Given the description of an element on the screen output the (x, y) to click on. 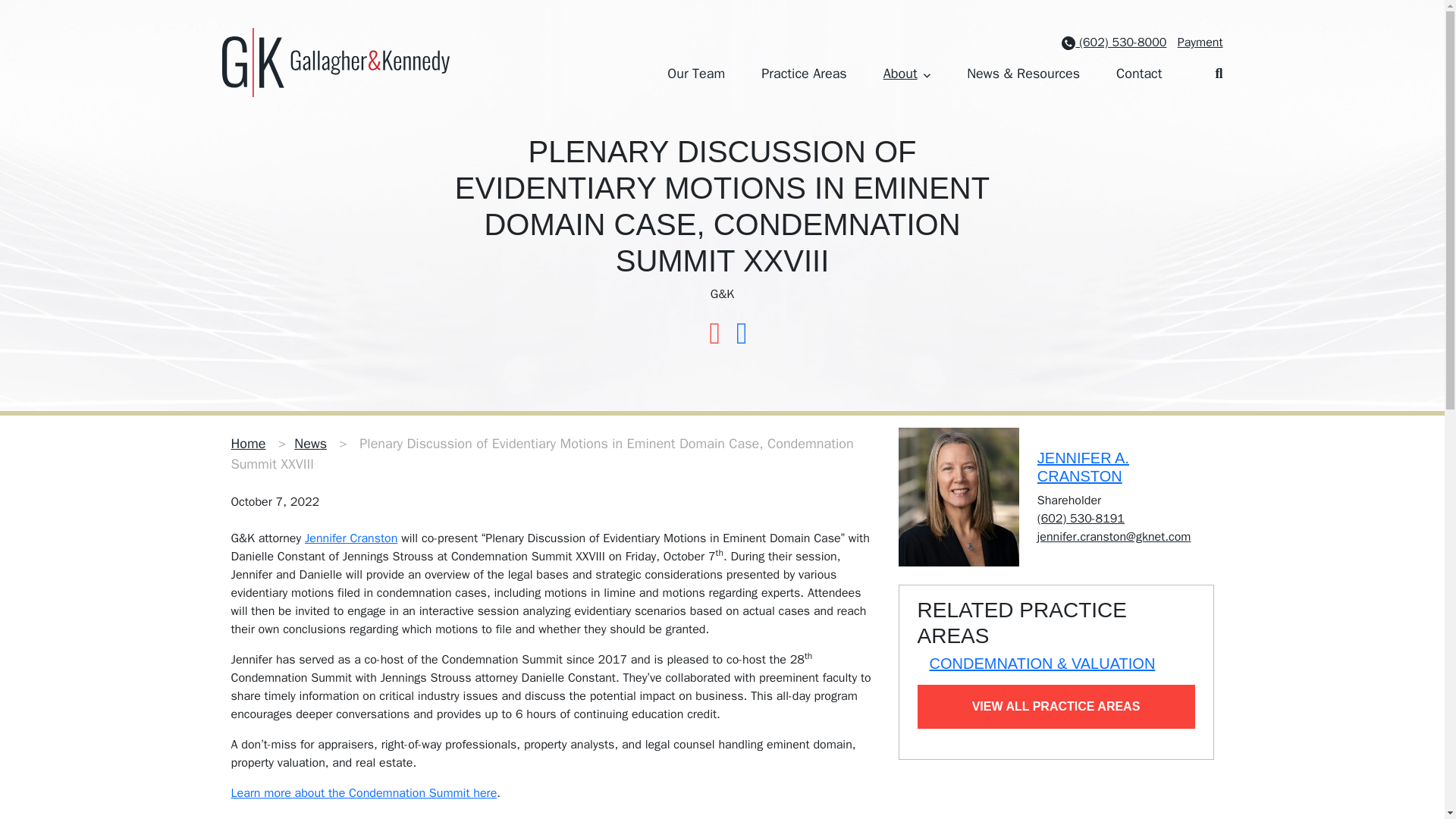
VIEW ALL PRACTICE AREAS (1056, 706)
Practice Areas (804, 73)
Payment (1200, 42)
JENNIFER A. CRANSTON (1082, 466)
News (310, 443)
Home (247, 443)
Contact (1138, 73)
Jennifer Cranston (350, 538)
Contact (1138, 73)
Learn more about the Condemnation Summit here (363, 792)
